Given the description of an element on the screen output the (x, y) to click on. 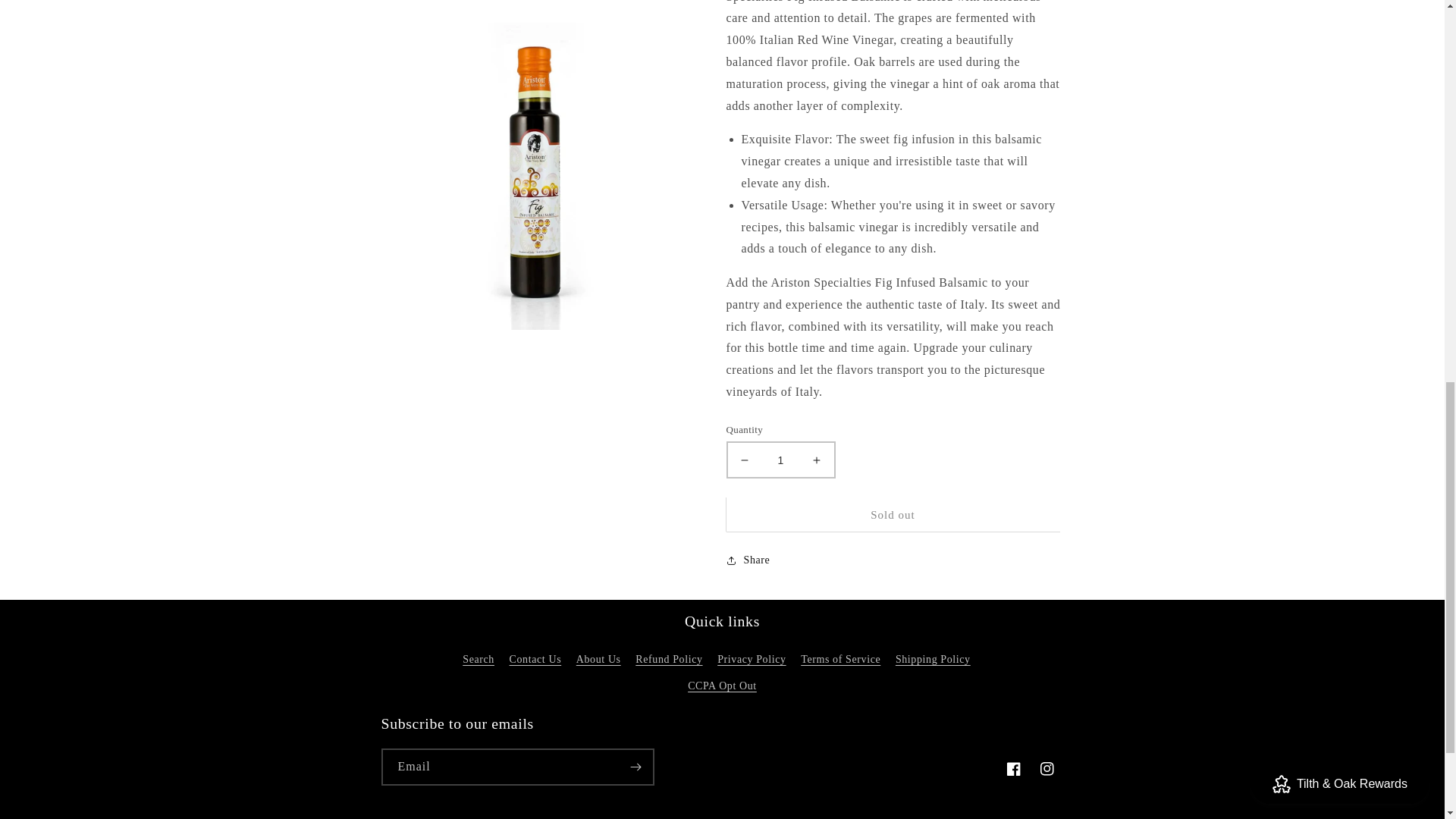
1 (780, 459)
